Given the description of an element on the screen output the (x, y) to click on. 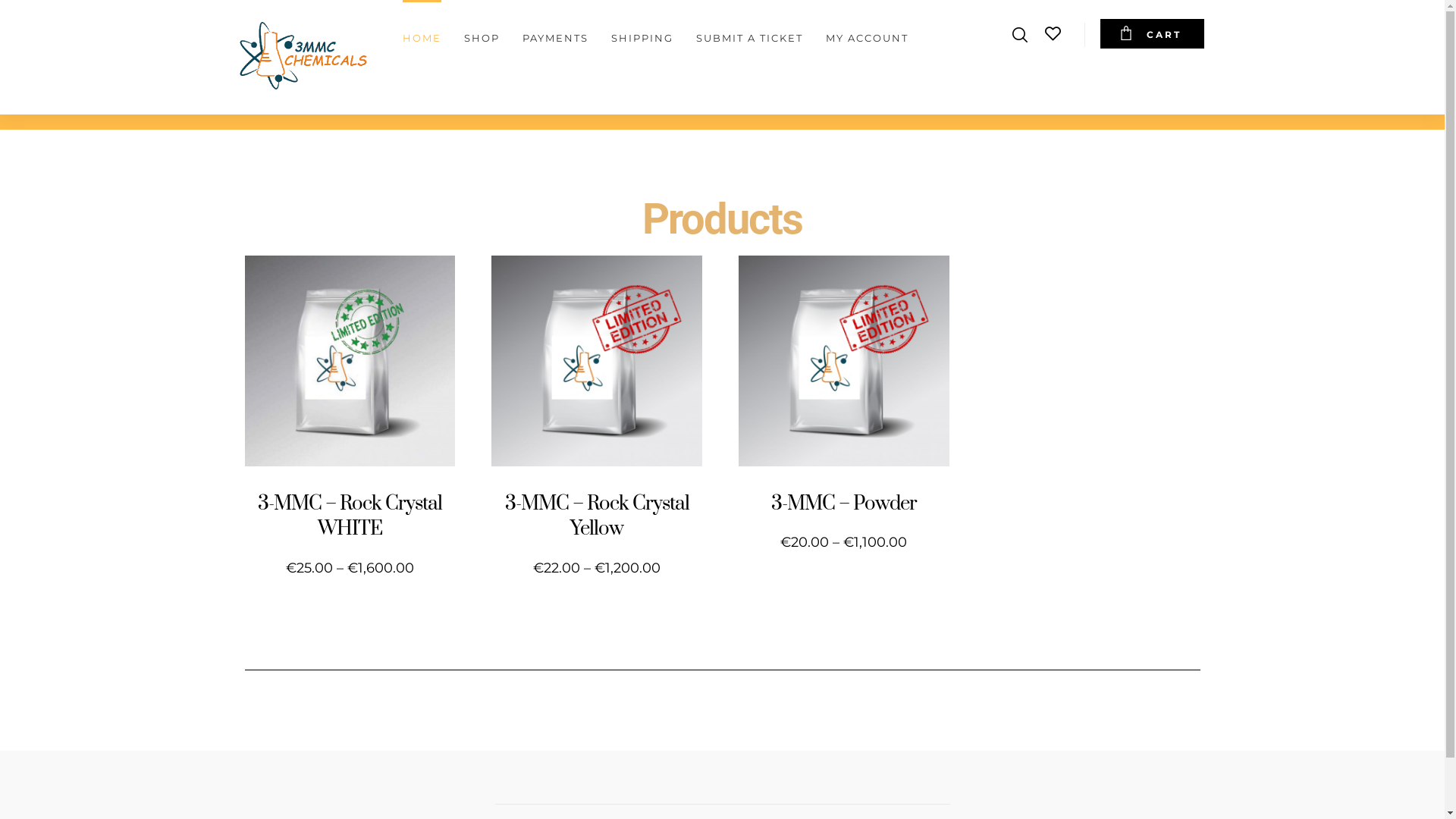
SHIPPING Element type: text (642, 30)
SHOP Element type: text (481, 30)
MY ACCOUNT Element type: text (866, 30)
3MMC CHEMICALS Element type: hover (302, 54)
Wishlist Element type: hover (1052, 32)
HOME Element type: text (420, 30)
SUBMIT A TICKET Element type: text (749, 30)
CART Element type: text (1152, 33)
PAYMENTS Element type: text (554, 30)
